Given the description of an element on the screen output the (x, y) to click on. 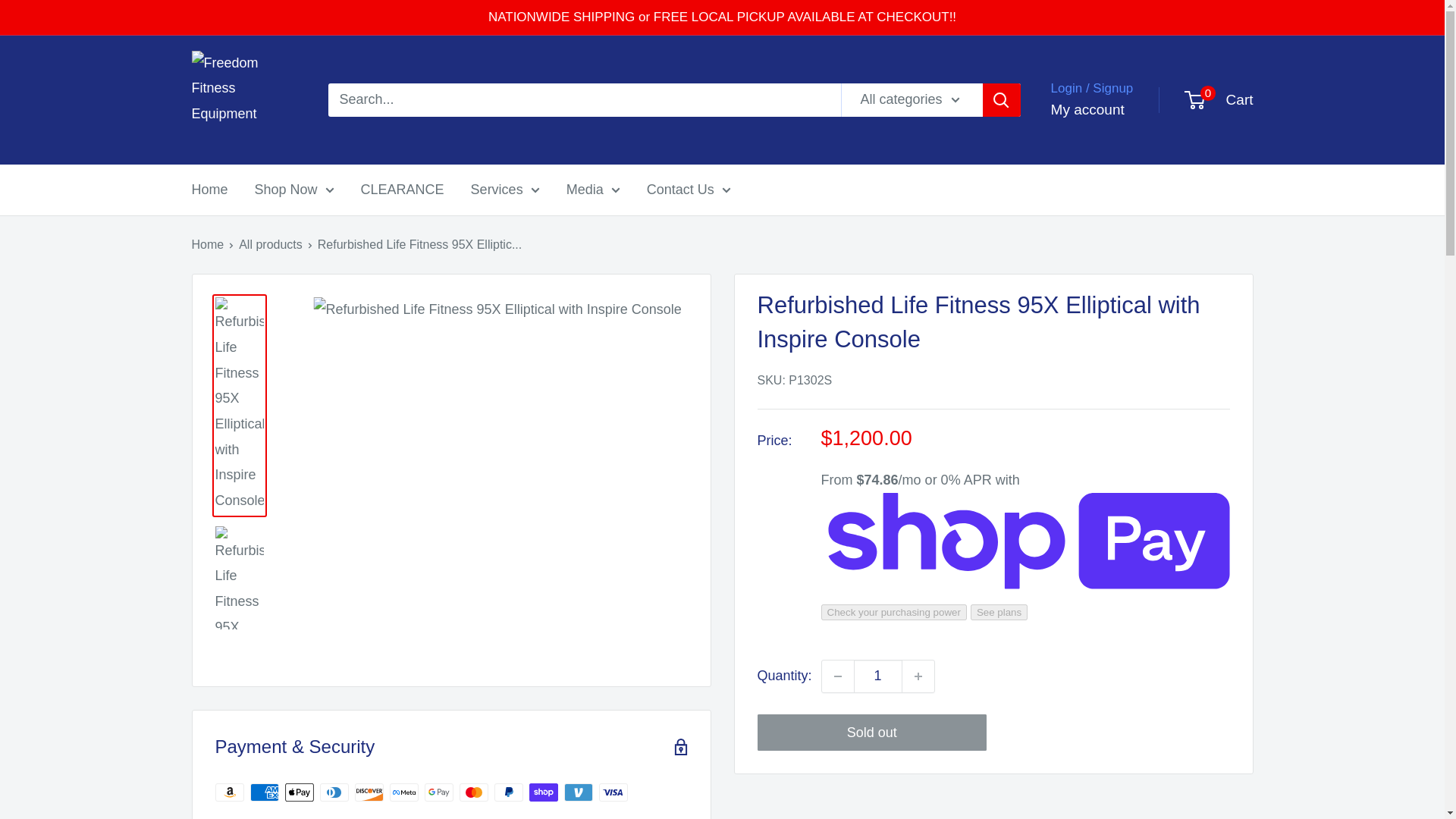
Increase quantity by 1 (918, 676)
1 (877, 676)
Decrease quantity by 1 (837, 676)
